Given the description of an element on the screen output the (x, y) to click on. 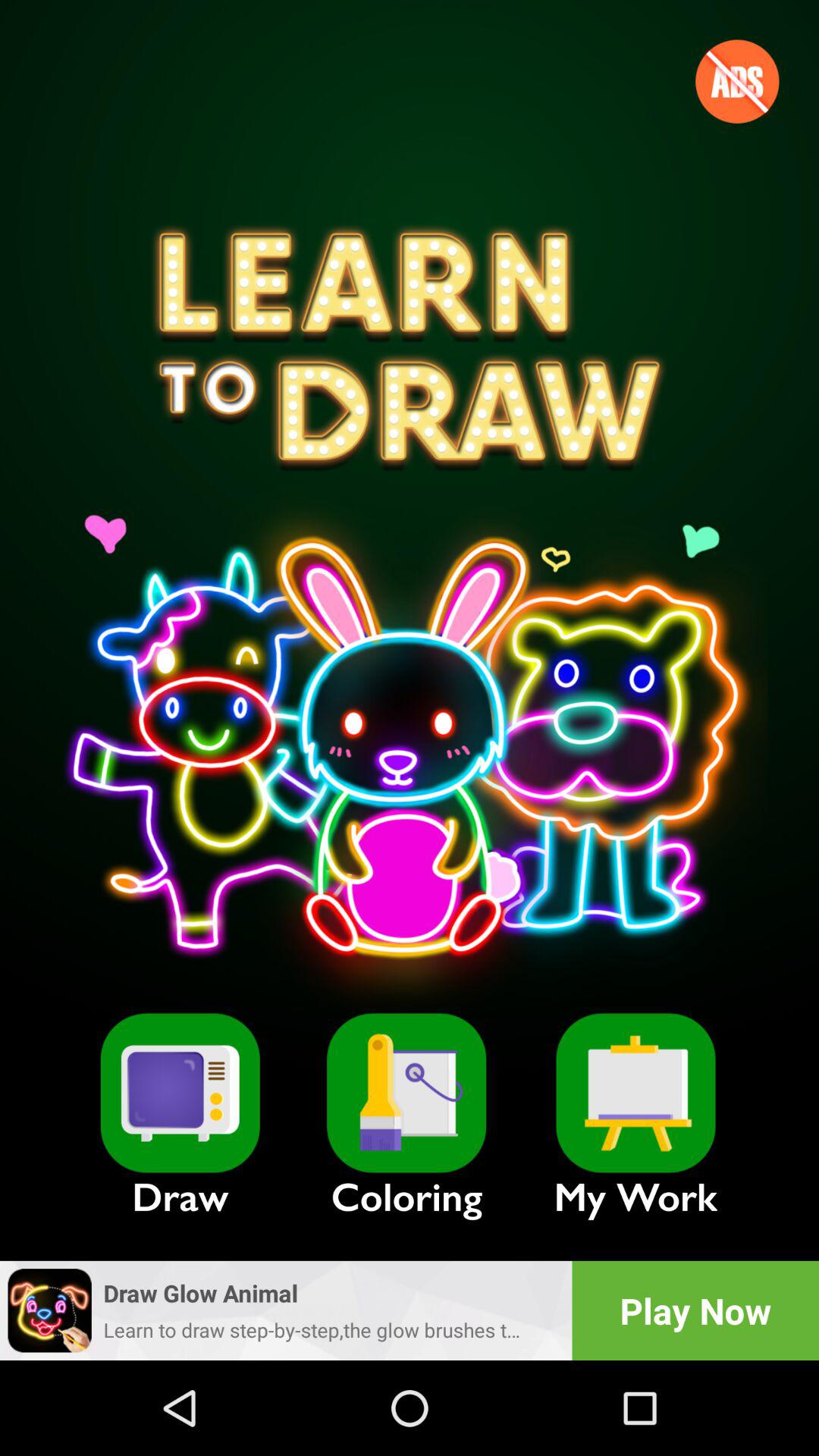
choose the icon next to the draw glow animal app (695, 1310)
